Given the description of an element on the screen output the (x, y) to click on. 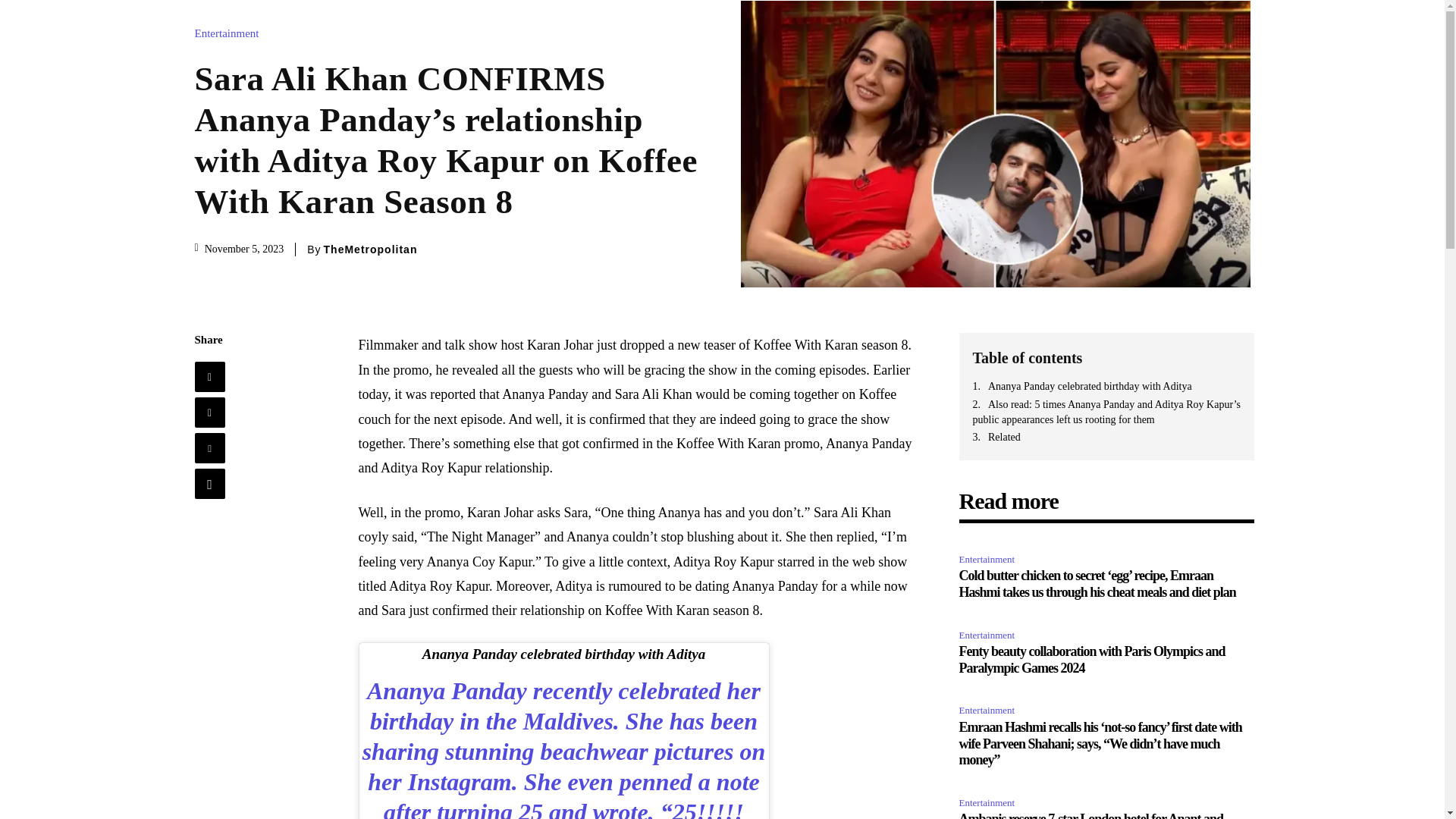
Entertainment (229, 33)
Related (1106, 437)
Entertainment (988, 559)
TheMetropolitan (370, 249)
Entertainment (988, 710)
Twitter (208, 412)
Ananya Panday celebrated birthday with Aditya (1106, 386)
Entertainment (988, 635)
Entertainment (988, 803)
Facebook (208, 376)
WhatsApp (208, 483)
Pinterest (208, 448)
